Given the description of an element on the screen output the (x, y) to click on. 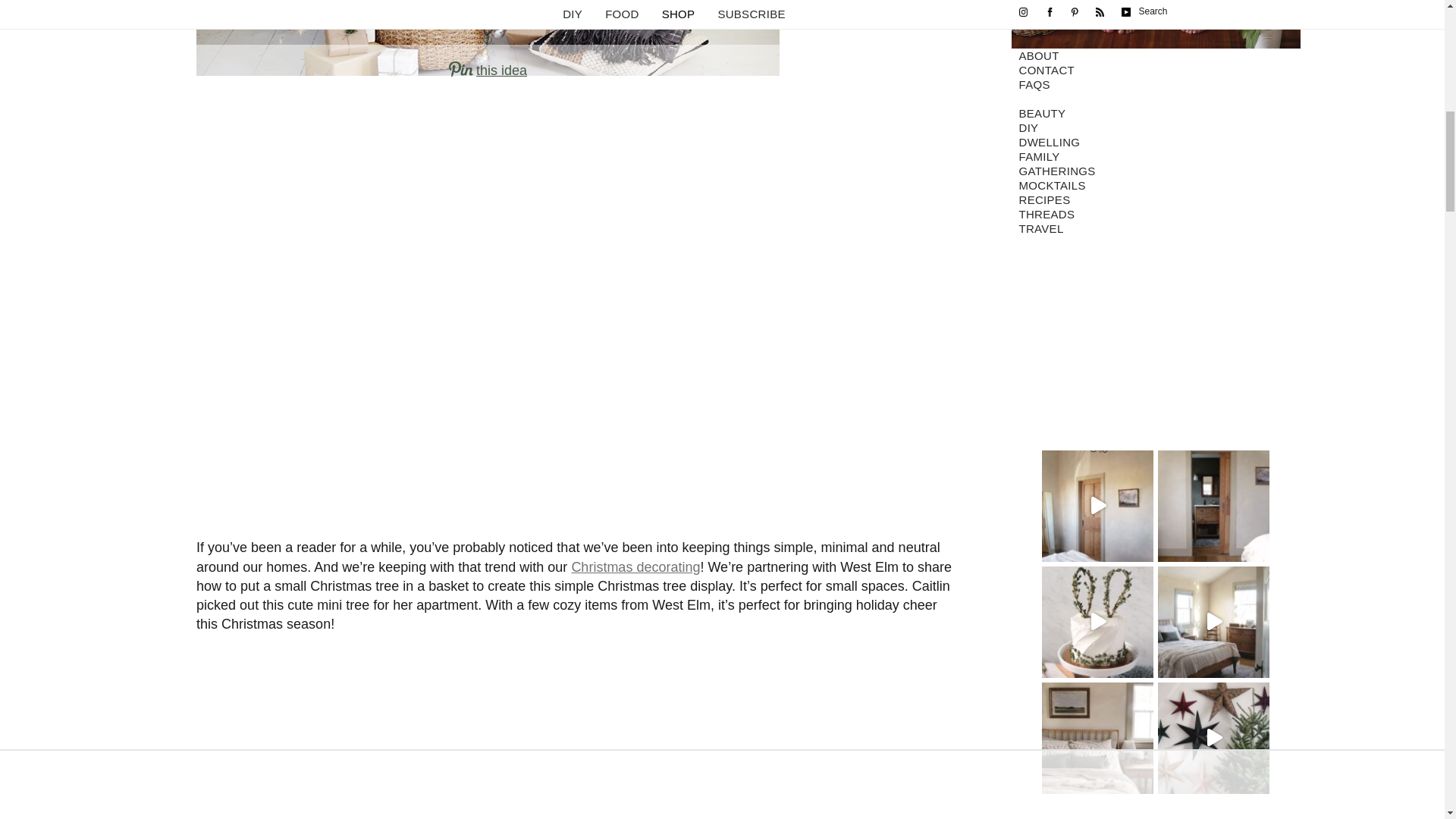
BEAUTY (1155, 113)
CONTACT (1155, 70)
FAMILY (1155, 156)
DWELLING (1155, 142)
this idea (487, 69)
DIY (1155, 128)
FAQS (1155, 84)
ABOUT (1155, 55)
Christmas decorating (635, 566)
